Given the description of an element on the screen output the (x, y) to click on. 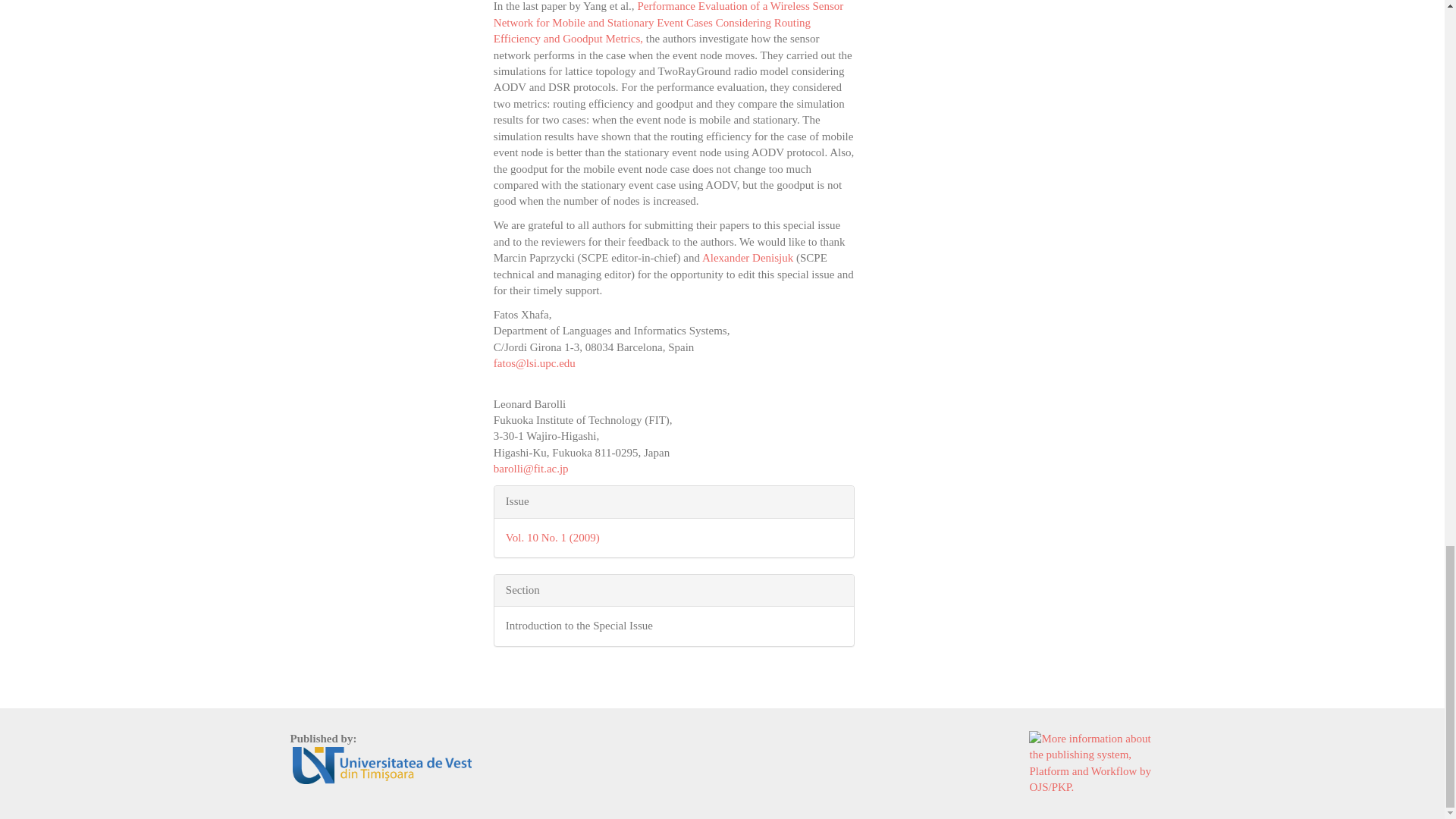
Universitatea de Vest din Timisoara (381, 764)
Alexander Denisjuk (747, 257)
